Given the description of an element on the screen output the (x, y) to click on. 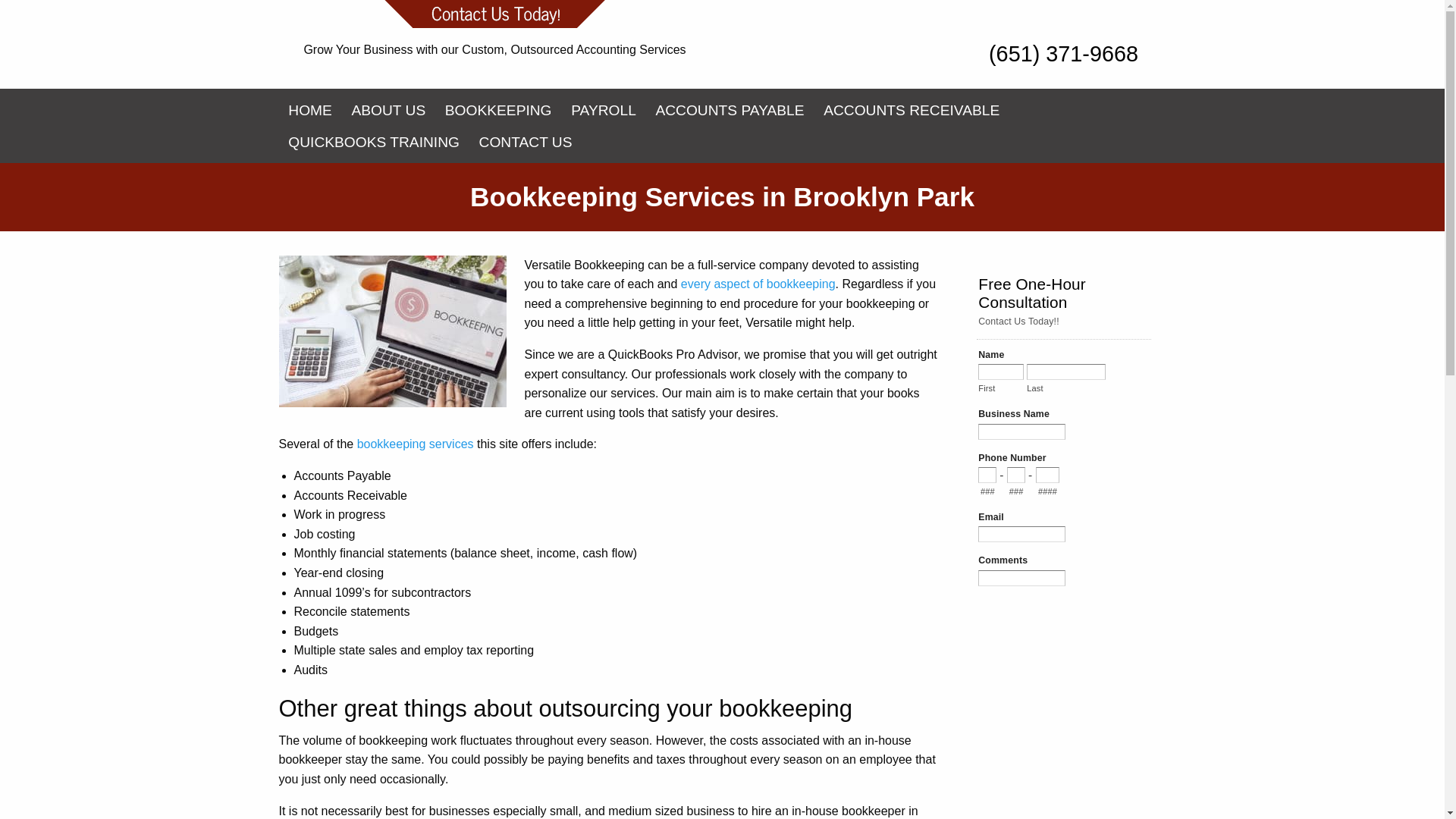
BOOKKEEPING (497, 110)
HOME (310, 110)
QUICKBOOKS TRAINING (373, 142)
ACCOUNTS PAYABLE (729, 110)
every aspect of bookkeeping (758, 283)
bookkeeping services (415, 443)
ACCOUNTS RECEIVABLE (911, 110)
PAYROLL (602, 110)
CONTACT US (525, 142)
ABOUT US (388, 110)
